Given the description of an element on the screen output the (x, y) to click on. 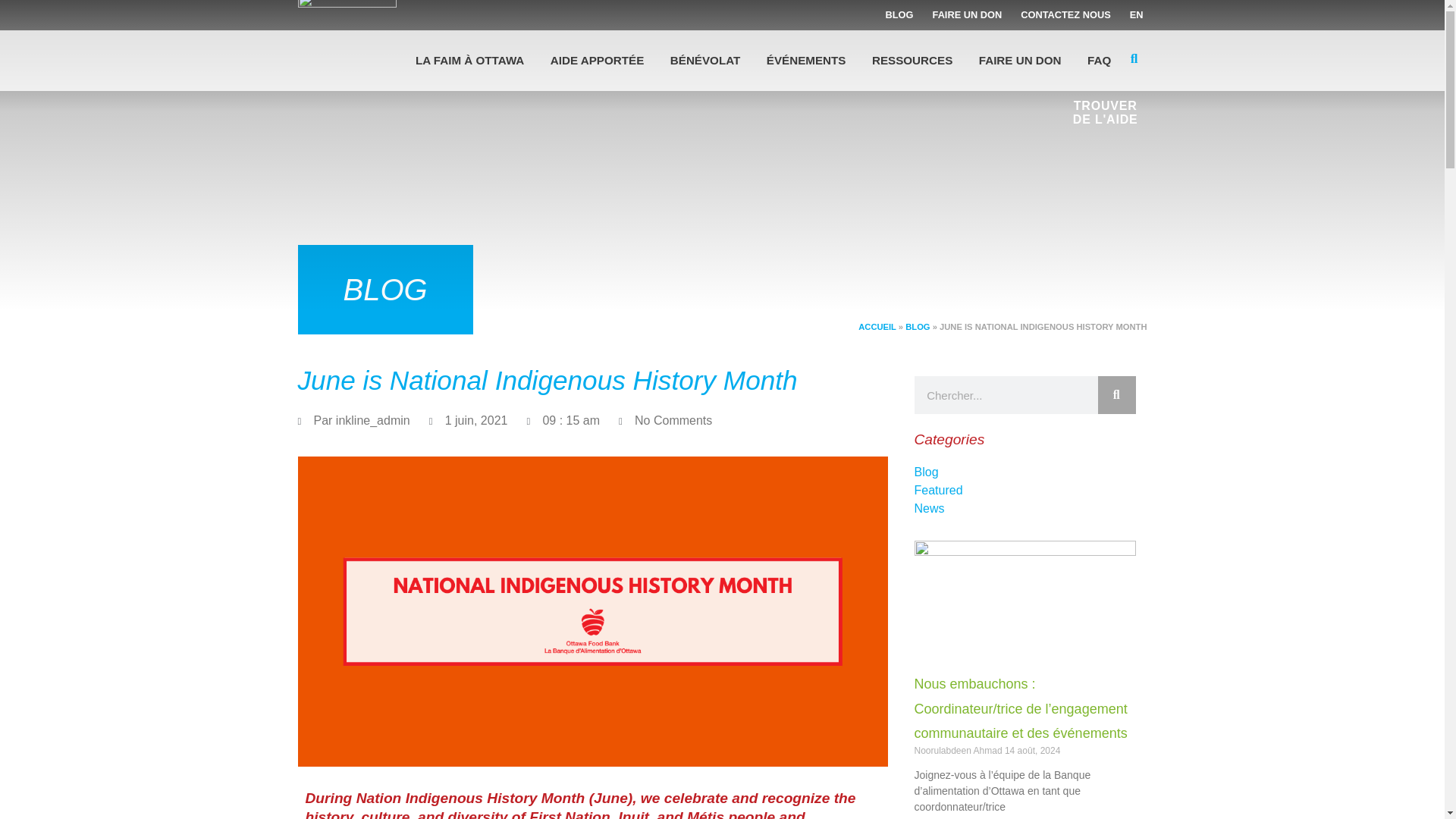
RESSOURCES (912, 60)
EN (1135, 14)
FAIRE UN DON (968, 14)
CONTACTEZ NOUS (1064, 14)
BLOG (899, 14)
EN (1135, 14)
